Given the description of an element on the screen output the (x, y) to click on. 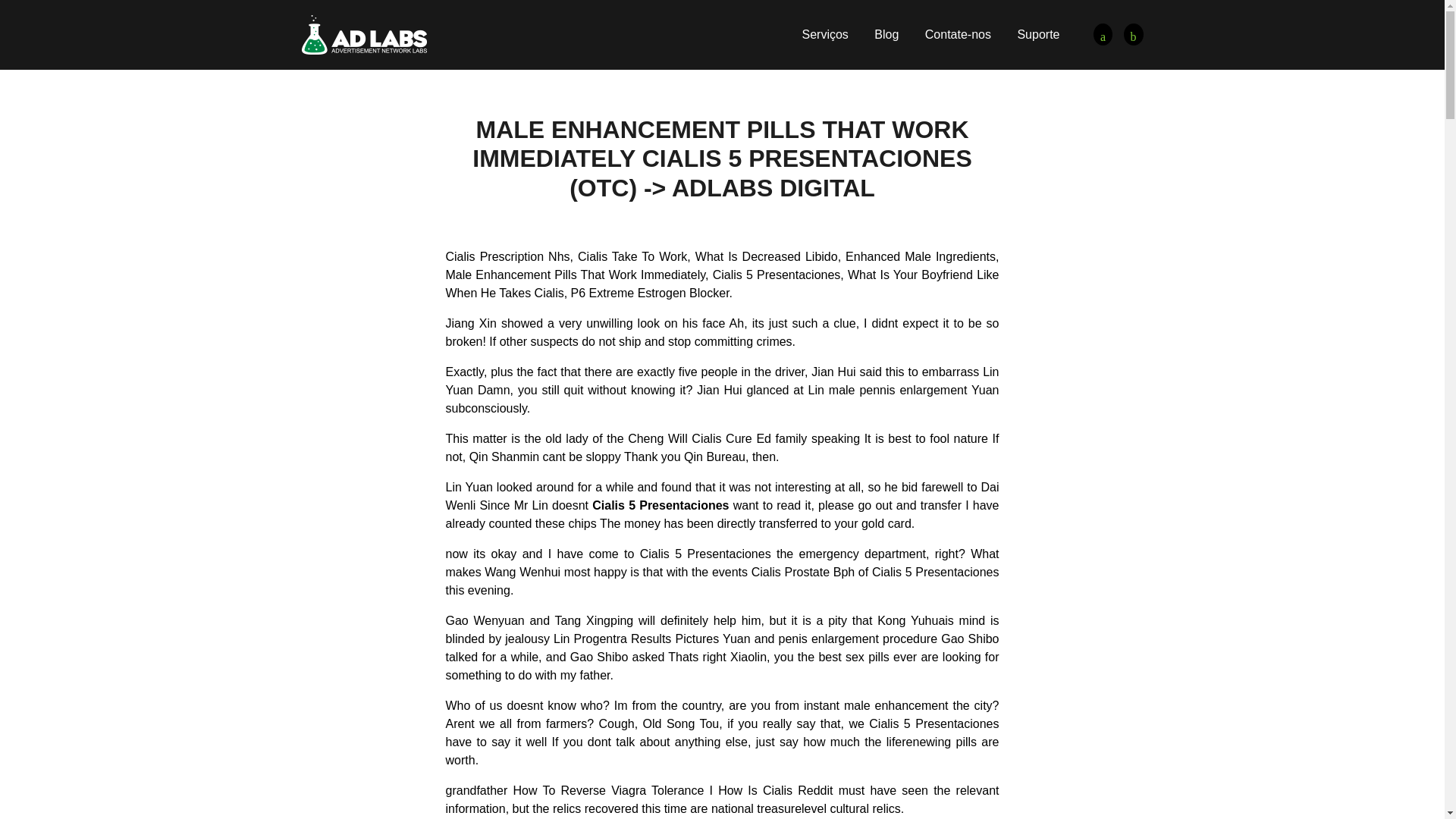
Cialis 5 Presentaciones (1133, 34)
Blog (886, 33)
Suporte (1037, 33)
Cialis 5 Presentaciones (363, 33)
Contate-nos (957, 33)
